Given the description of an element on the screen output the (x, y) to click on. 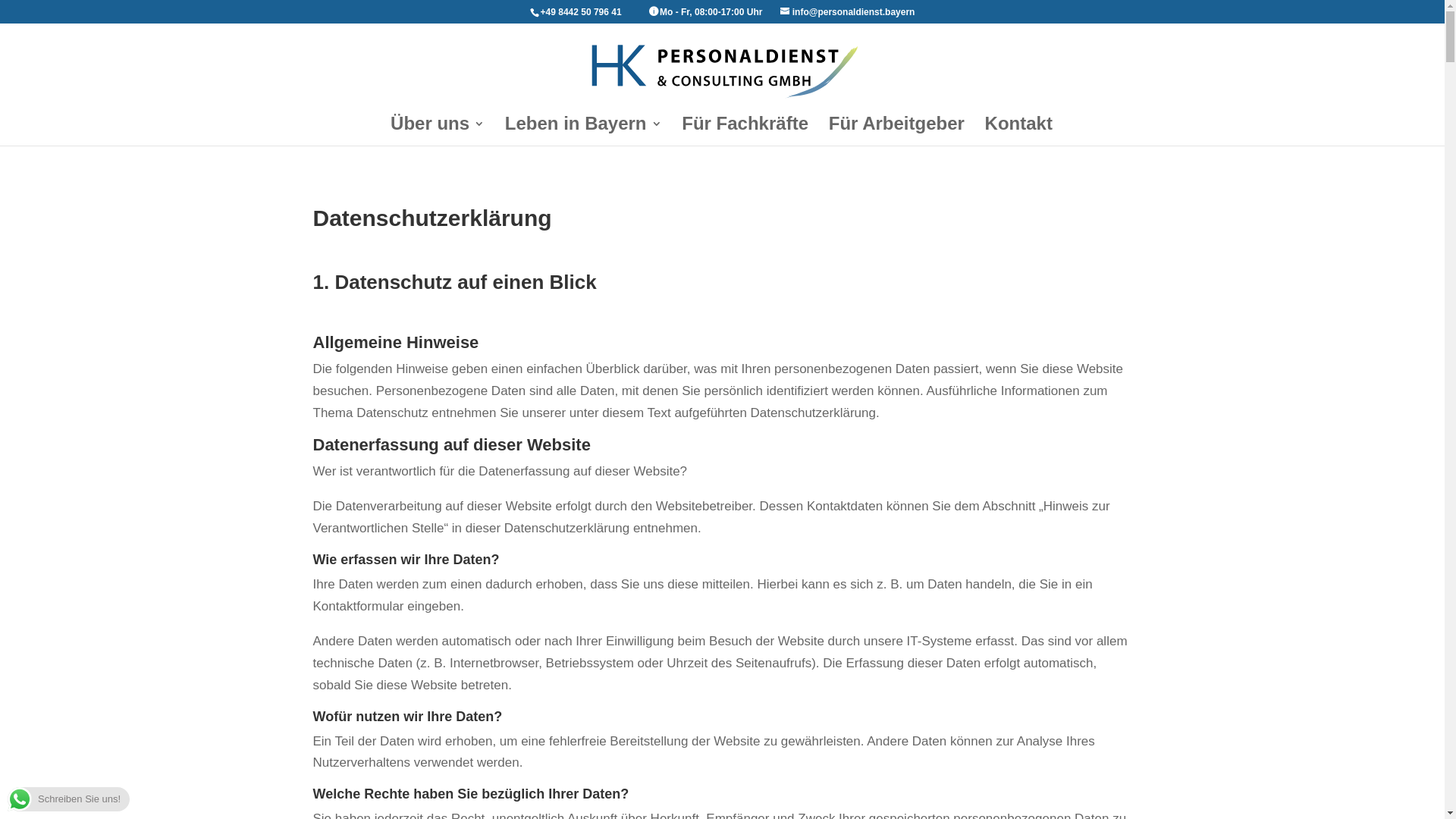
Kontakt Element type: text (1018, 131)
+49 8442 50 796 41 Element type: text (581, 11)
info@personaldienst.bayern Element type: text (847, 11)
Leben in Bayern Element type: text (583, 131)
